Given the description of an element on the screen output the (x, y) to click on. 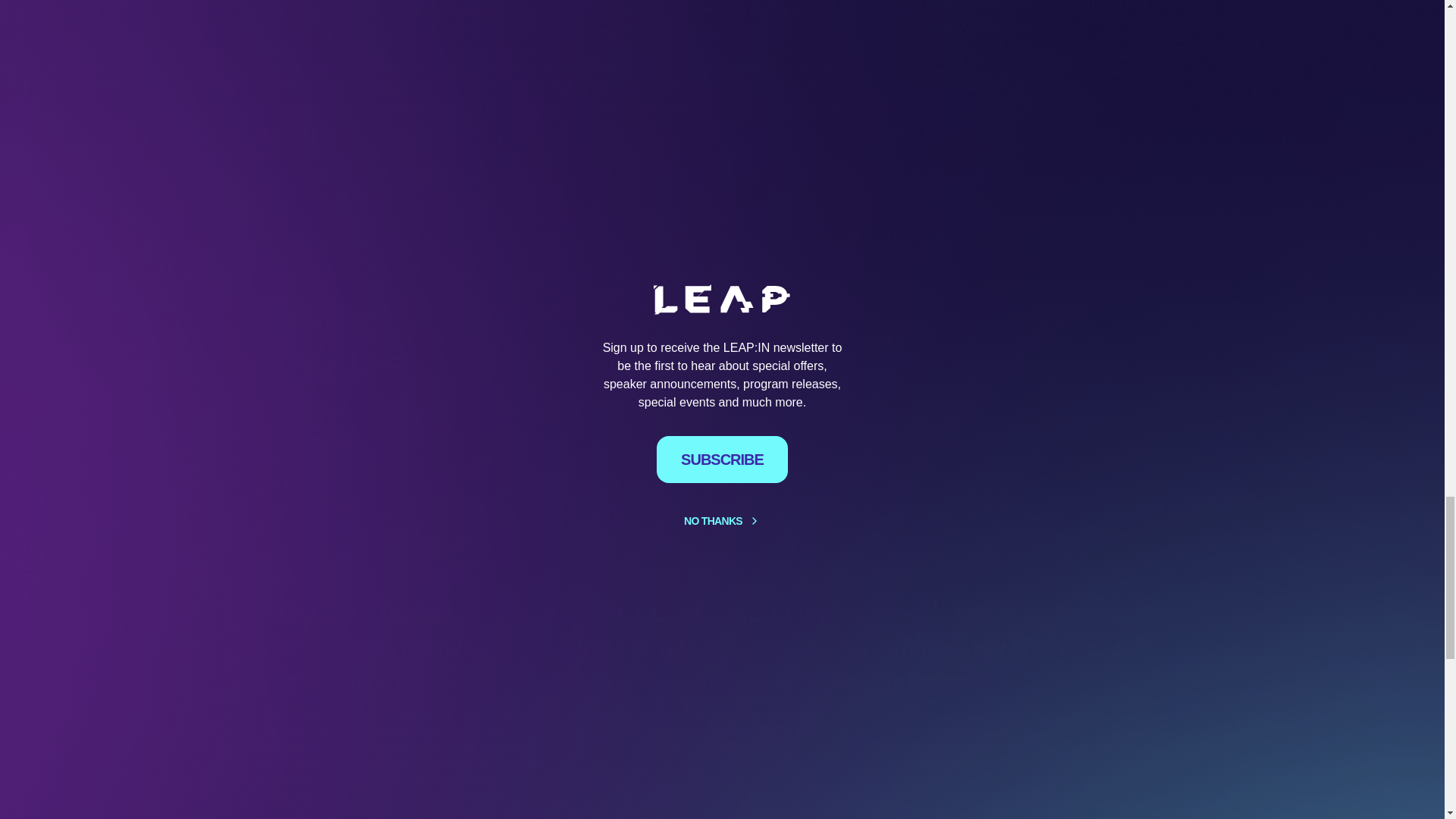
Why are Crypto Astrologers gaining popularity? (405, 646)
Arizton (572, 29)
Statista (769, 7)
Why LEAP is good for your brain (721, 629)
